Given the description of an element on the screen output the (x, y) to click on. 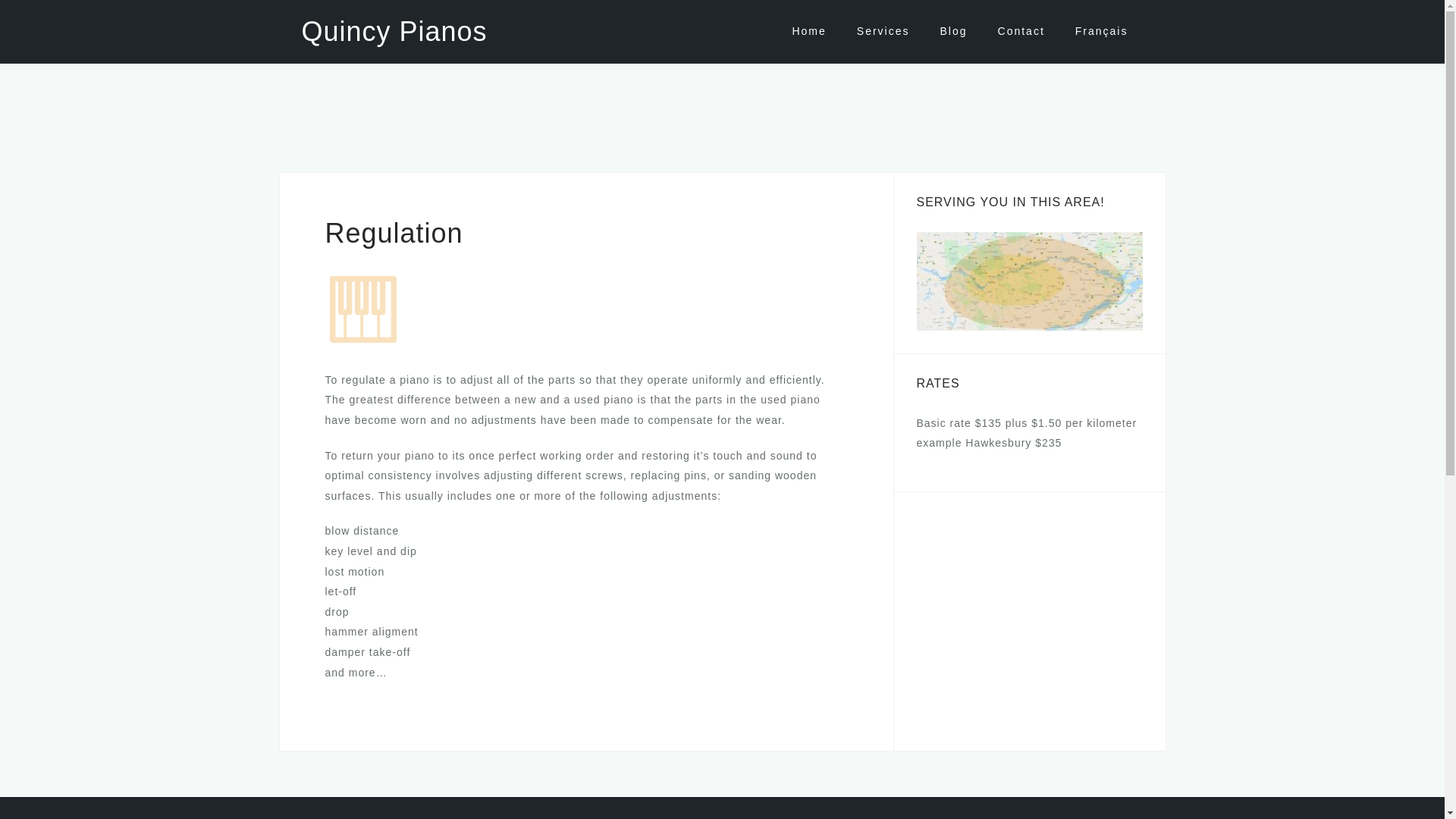
Contact (1021, 31)
Serving you in this area! (1028, 280)
Blog (954, 31)
Home (808, 31)
Quincy Pianos (394, 30)
Services (883, 31)
Regulation (362, 307)
